Given the description of an element on the screen output the (x, y) to click on. 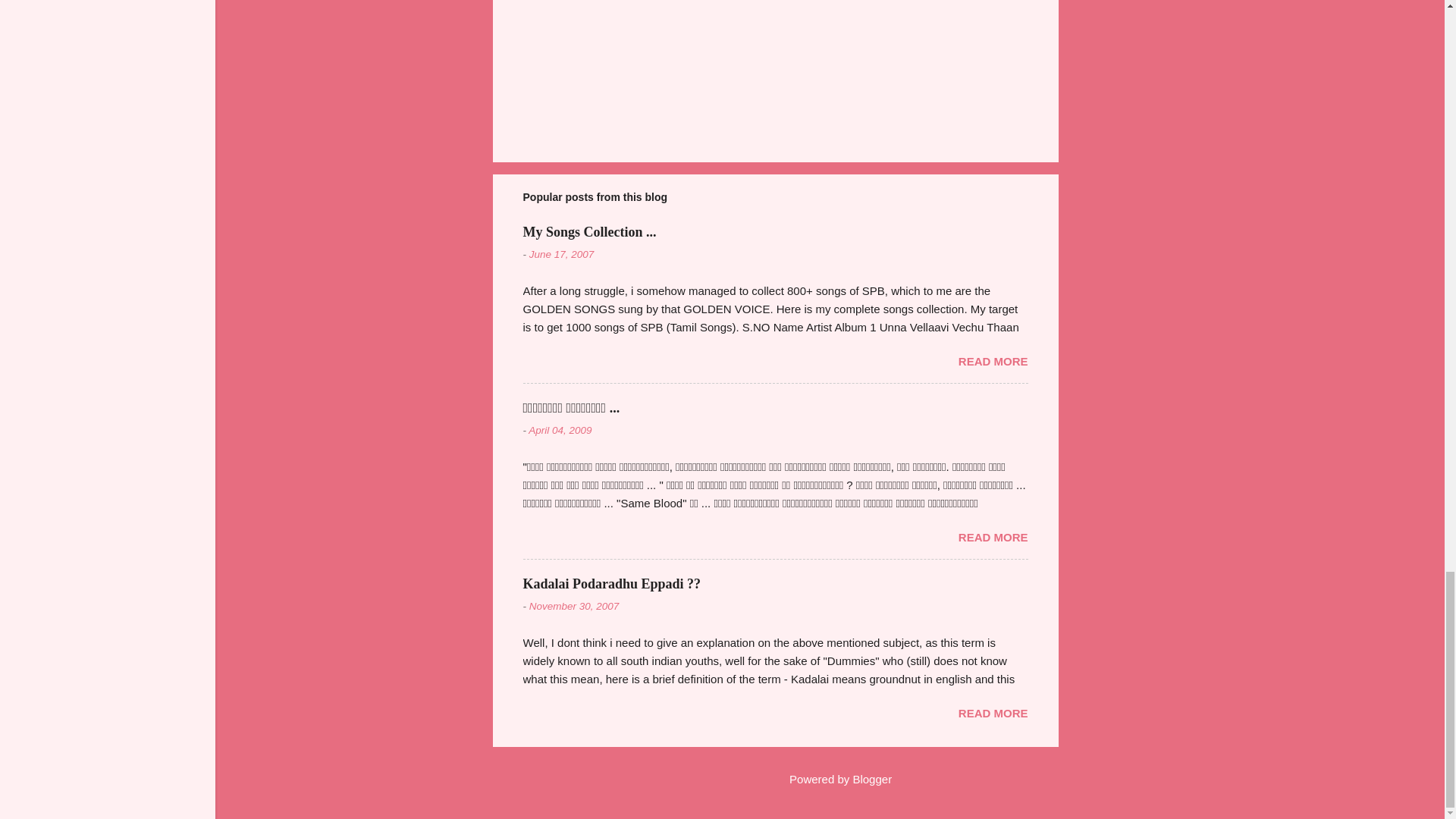
Powered by Blogger (829, 779)
November 30, 2007 (574, 605)
Kadalai Podaradhu Eppadi ?? (611, 583)
June 17, 2007 (561, 254)
READ MORE (992, 536)
READ MORE (992, 712)
April 04, 2009 (559, 430)
READ MORE (992, 360)
My Songs Collection ... (589, 231)
